Given the description of an element on the screen output the (x, y) to click on. 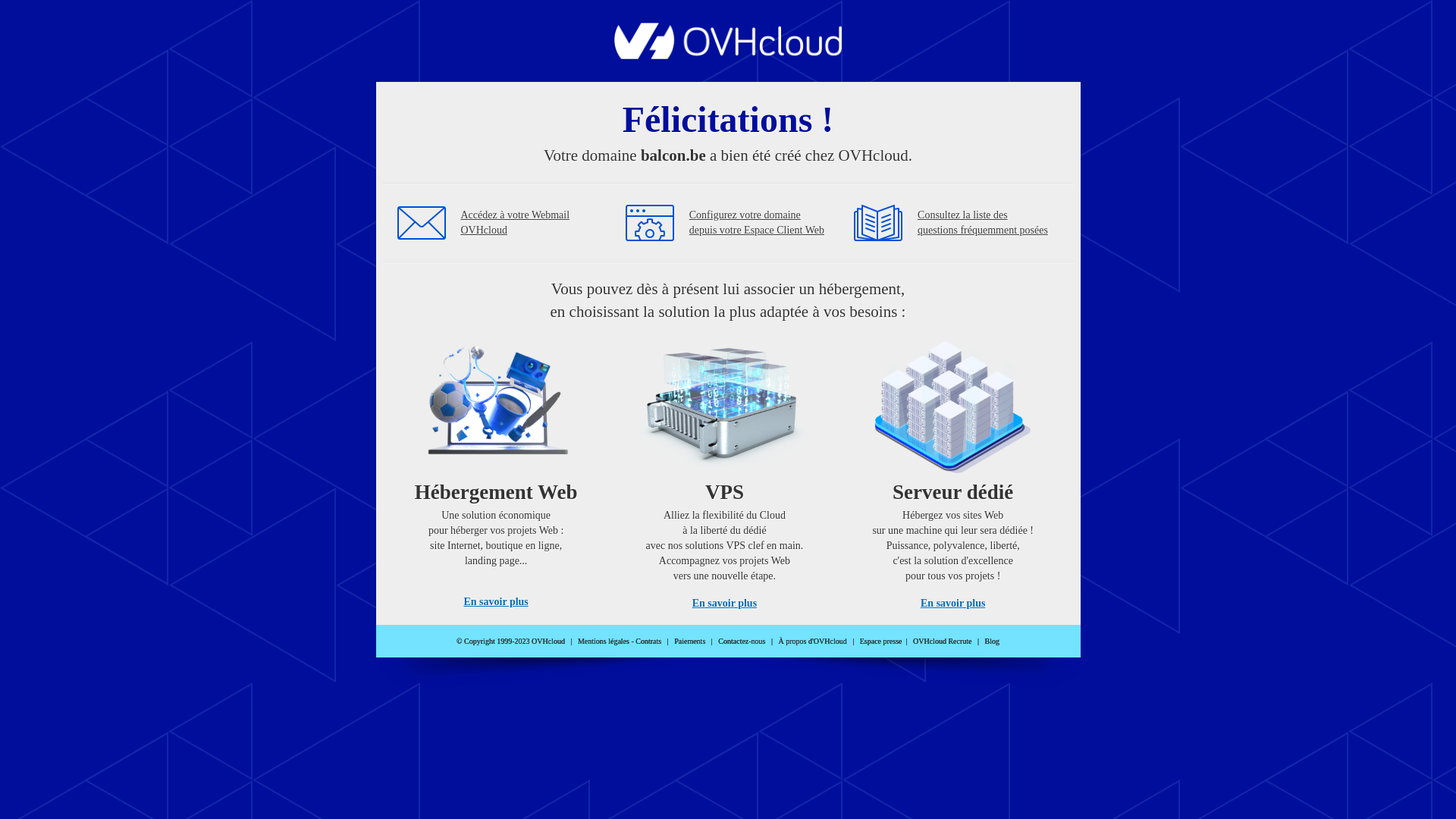
En savoir plus Element type: text (952, 602)
OVHcloud Recrute Element type: text (942, 641)
Contactez-nous Element type: text (741, 641)
Configurez votre domaine
depuis votre Espace Client Web Element type: text (756, 222)
Blog Element type: text (992, 641)
Espace presse Element type: text (880, 641)
Paiements Element type: text (689, 641)
VPS Element type: hover (724, 469)
OVHcloud Element type: hover (727, 54)
En savoir plus Element type: text (724, 602)
En savoir plus Element type: text (495, 601)
